Given the description of an element on the screen output the (x, y) to click on. 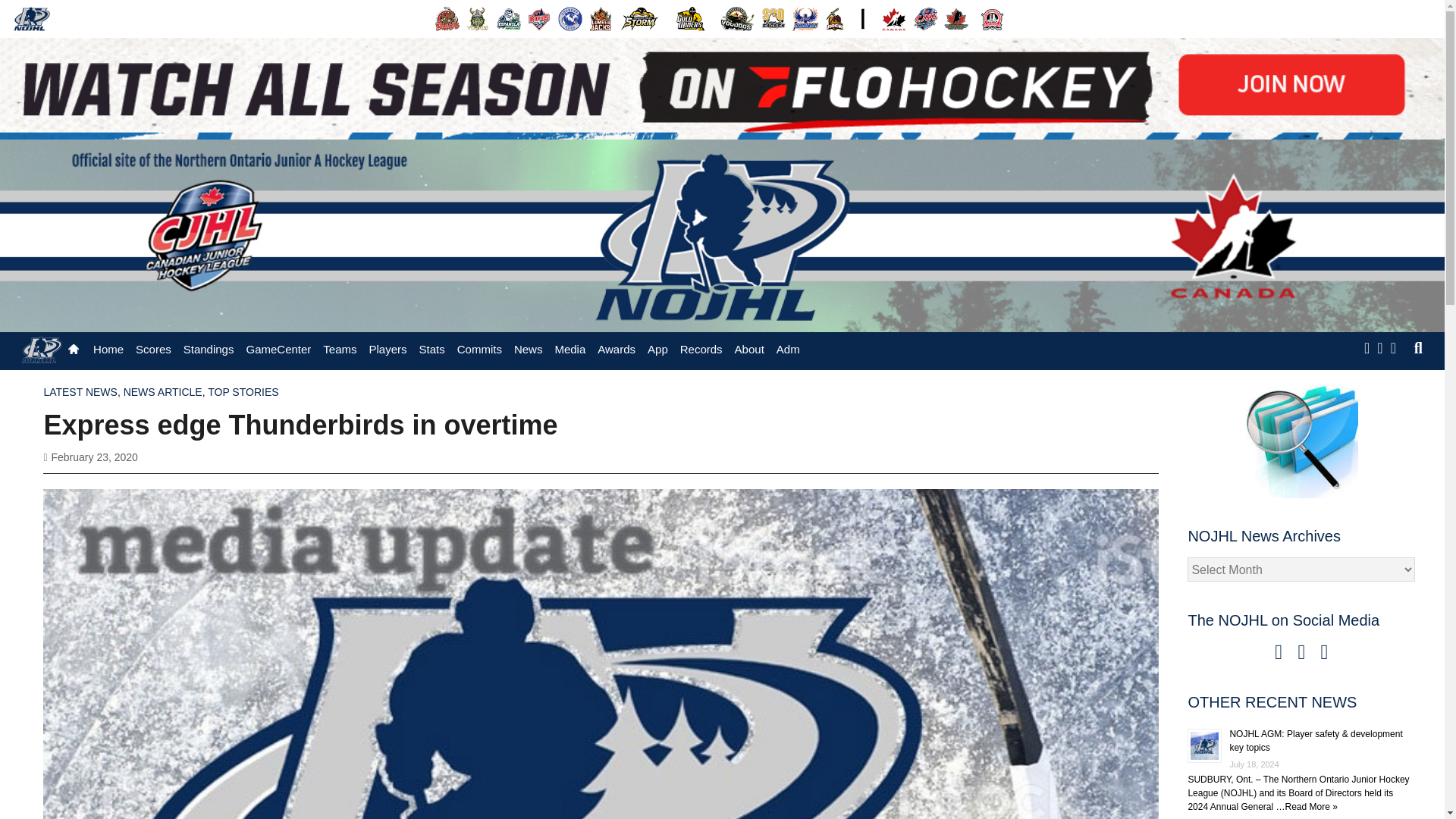
Espanola Paper Kings (508, 18)
Soo Eagles (773, 18)
French River Rapids (539, 18)
Greater Sudbury Cubs (569, 18)
Elliot Lake Vikings (478, 18)
Iroquois Falls Storm (639, 18)
Hearst Lumberjacks (600, 18)
Soo Thunderbirds (805, 18)
Kirkland Lake Gold Miners (690, 18)
Powassan Voodoos (737, 18)
NOJHL (31, 18)
Blind River Beavers (447, 18)
